Given the description of an element on the screen output the (x, y) to click on. 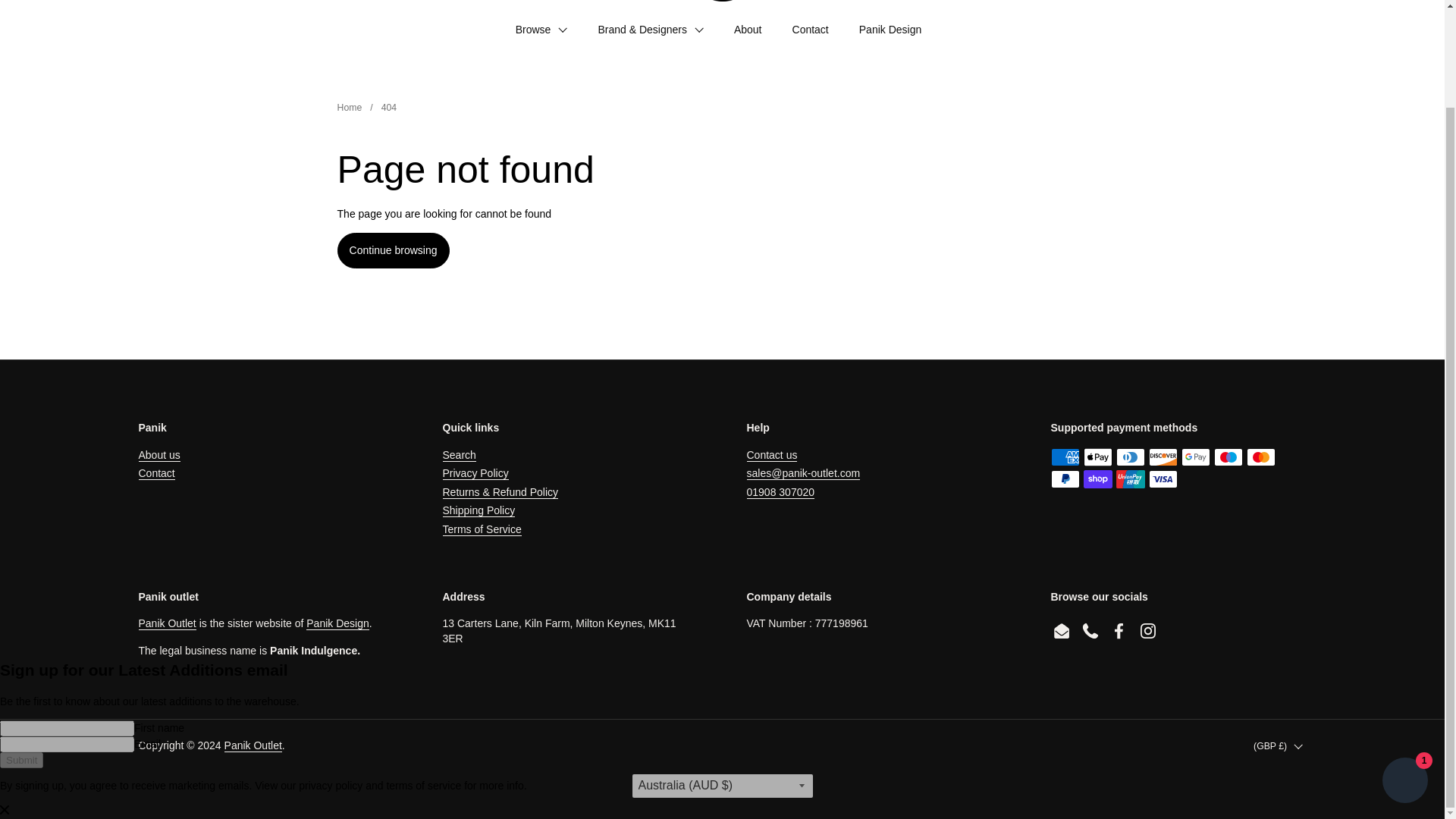
Shopify online store chat (1404, 668)
Browse (541, 29)
Panik Outlet (721, 0)
